Given the description of an element on the screen output the (x, y) to click on. 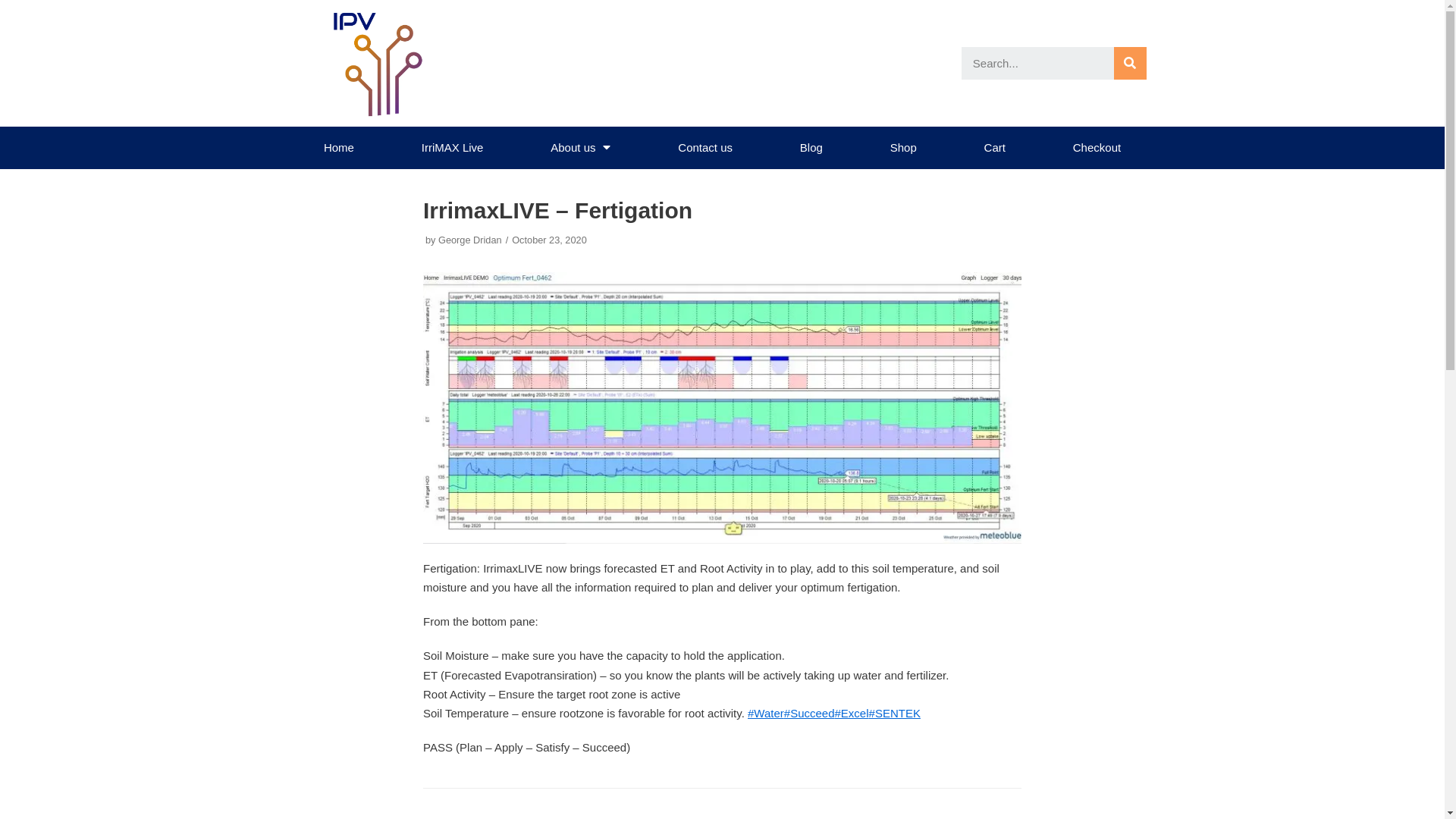
Blog Element type: text (810, 147)
Shop Element type: text (903, 147)
#Succeed Element type: text (809, 712)
IrriMAX Live Element type: text (452, 147)
Cart Element type: text (994, 147)
#Water Element type: text (765, 712)
#SENTEK Element type: text (894, 712)
Checkout Element type: text (1096, 147)
Home Element type: text (338, 147)
Search Element type: hover (1037, 63)
Skip to content Element type: text (15, 31)
Contact us Element type: text (705, 147)
About us Element type: text (580, 147)
#Excel Element type: text (851, 712)
Search Element type: hover (1129, 63)
George Dridan Element type: text (470, 239)
